Given the description of an element on the screen output the (x, y) to click on. 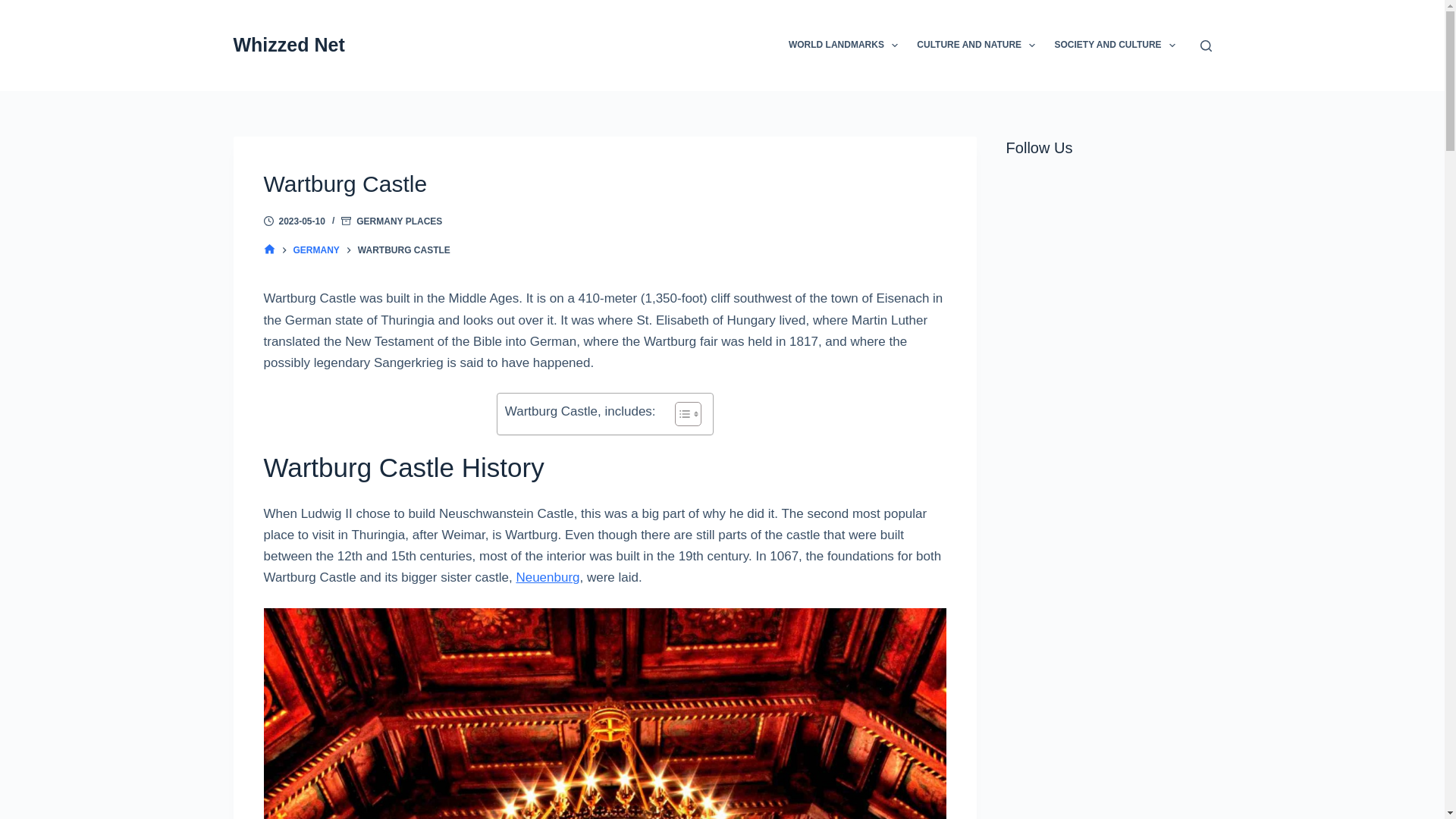
Wartburg Castle (604, 183)
Whizzed Net (288, 44)
WORLD LANDMARKS (842, 45)
Skip to content (15, 7)
